Given the description of an element on the screen output the (x, y) to click on. 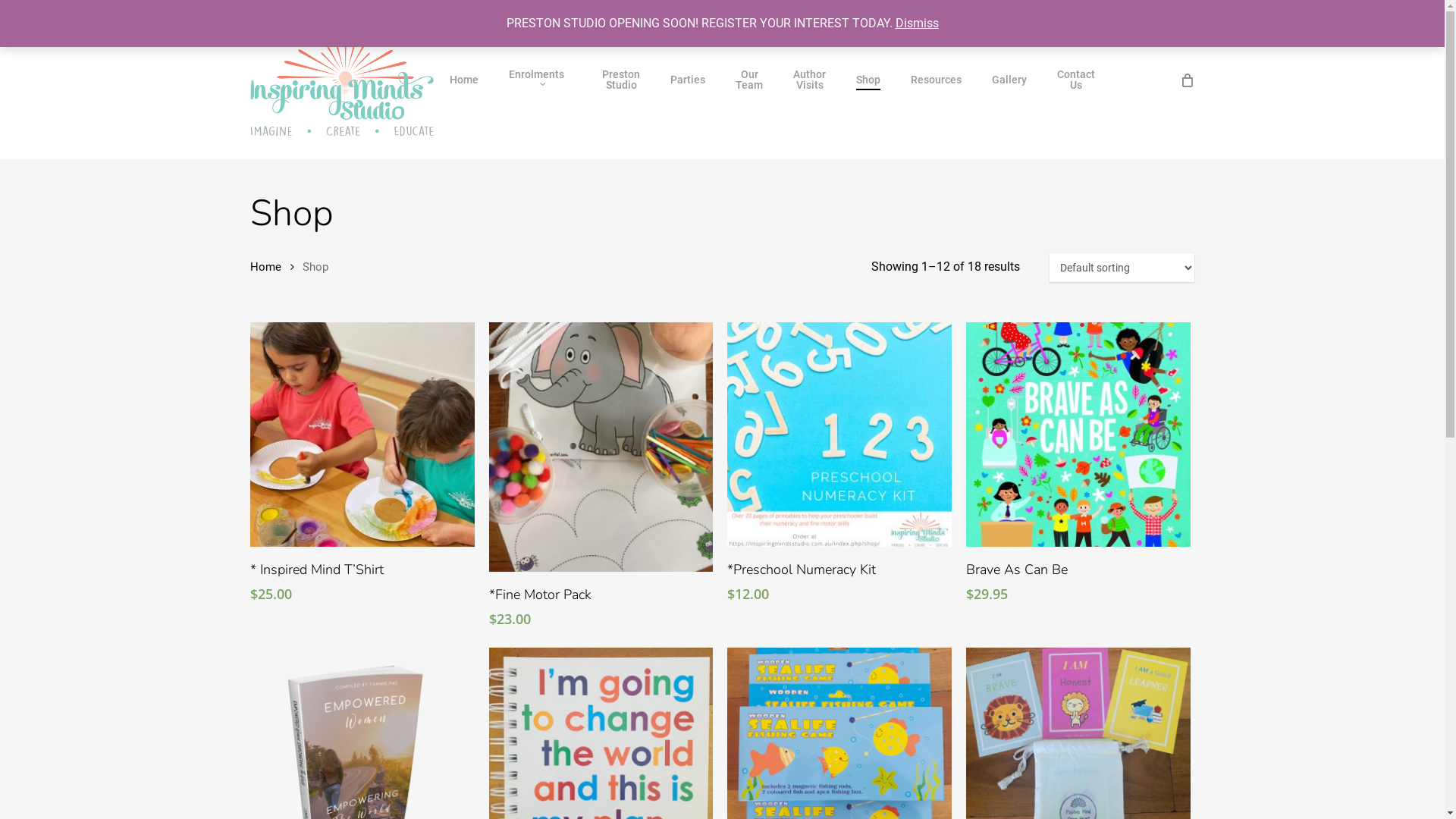
Home Element type: text (265, 266)
Home Element type: text (463, 79)
Preston Studio Element type: text (621, 79)
Shop Element type: text (868, 79)
Our Team Element type: text (748, 79)
Gallery Element type: text (1008, 79)
Dismiss Element type: text (916, 22)
Privacy Policy Element type: text (746, 757)
Contact Us Element type: text (1076, 79)
Enrolments Element type: text (539, 79)
Resources Element type: text (935, 79)
Parties Element type: text (687, 79)
Author Visits Element type: text (809, 79)
Terms & Conditions Element type: text (820, 757)
